Given the description of an element on the screen output the (x, y) to click on. 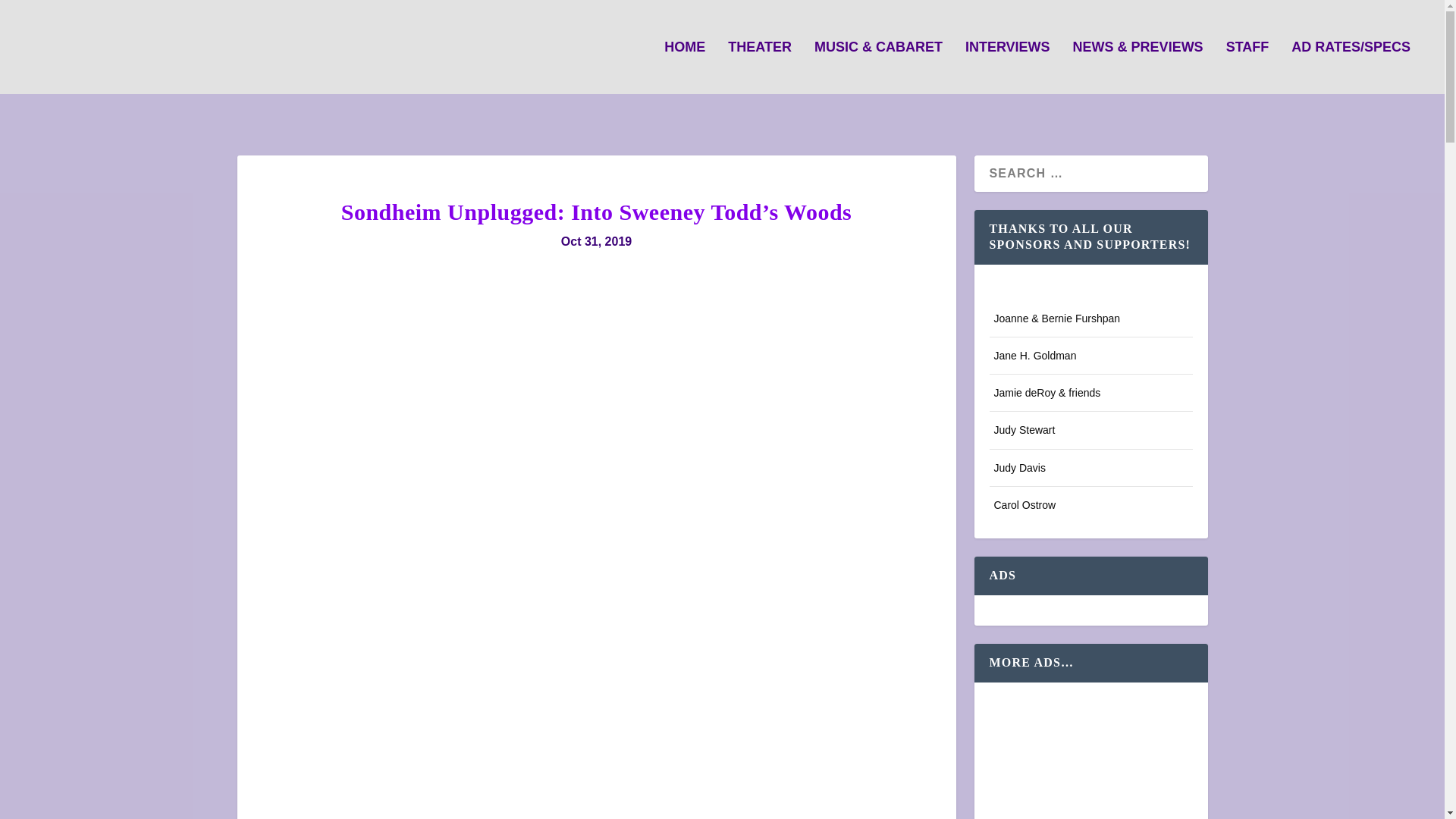
INTERVIEWS (1007, 67)
Search (34, 14)
THEATER (760, 67)
